Given the description of an element on the screen output the (x, y) to click on. 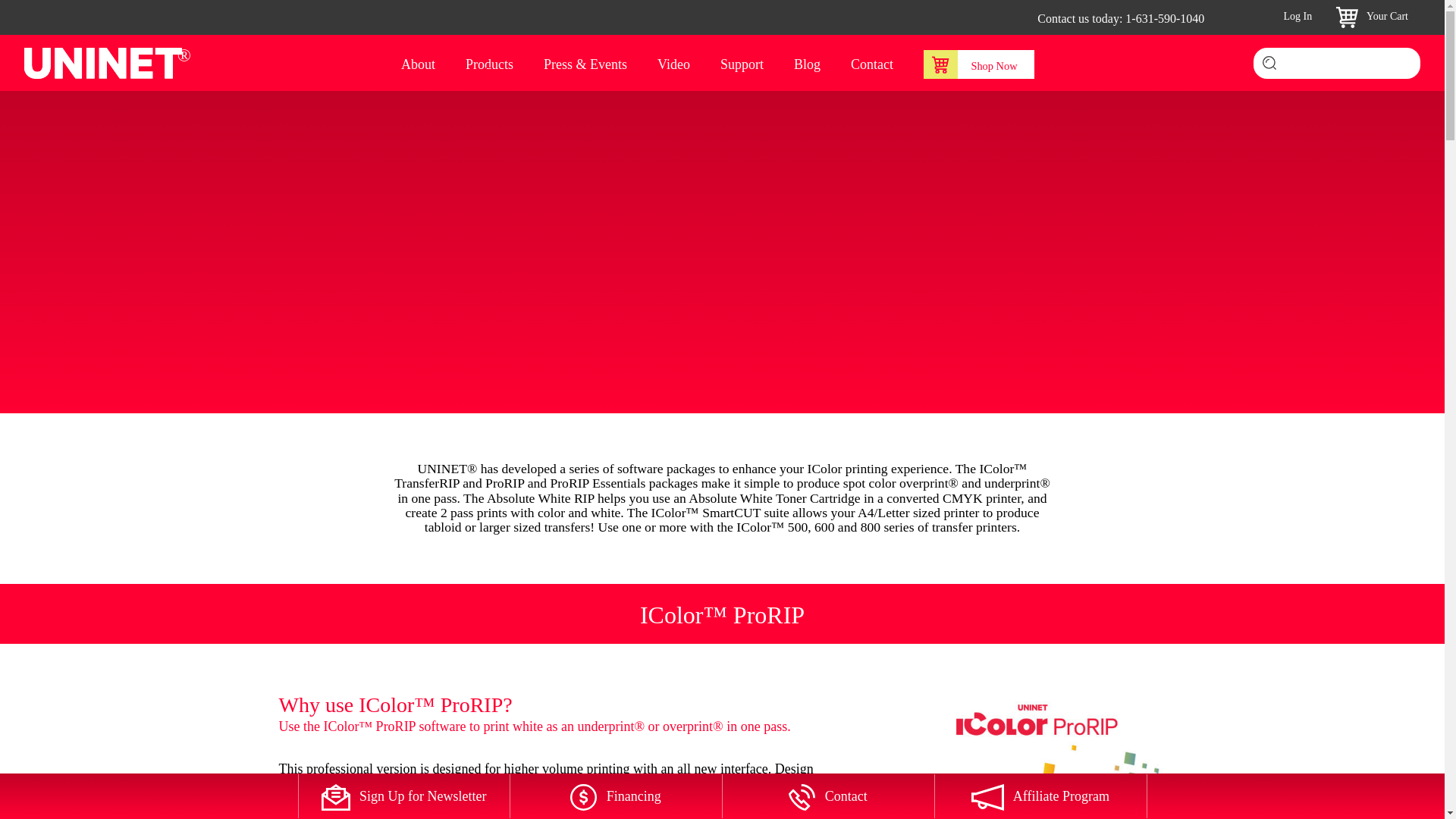
Contact (871, 64)
Log In (1293, 16)
1-631-590-1040 (1164, 18)
Shop Now (978, 63)
Blog (807, 64)
Support (741, 64)
Your Cart (1371, 16)
Video (674, 64)
Products (489, 64)
About (418, 64)
